Given the description of an element on the screen output the (x, y) to click on. 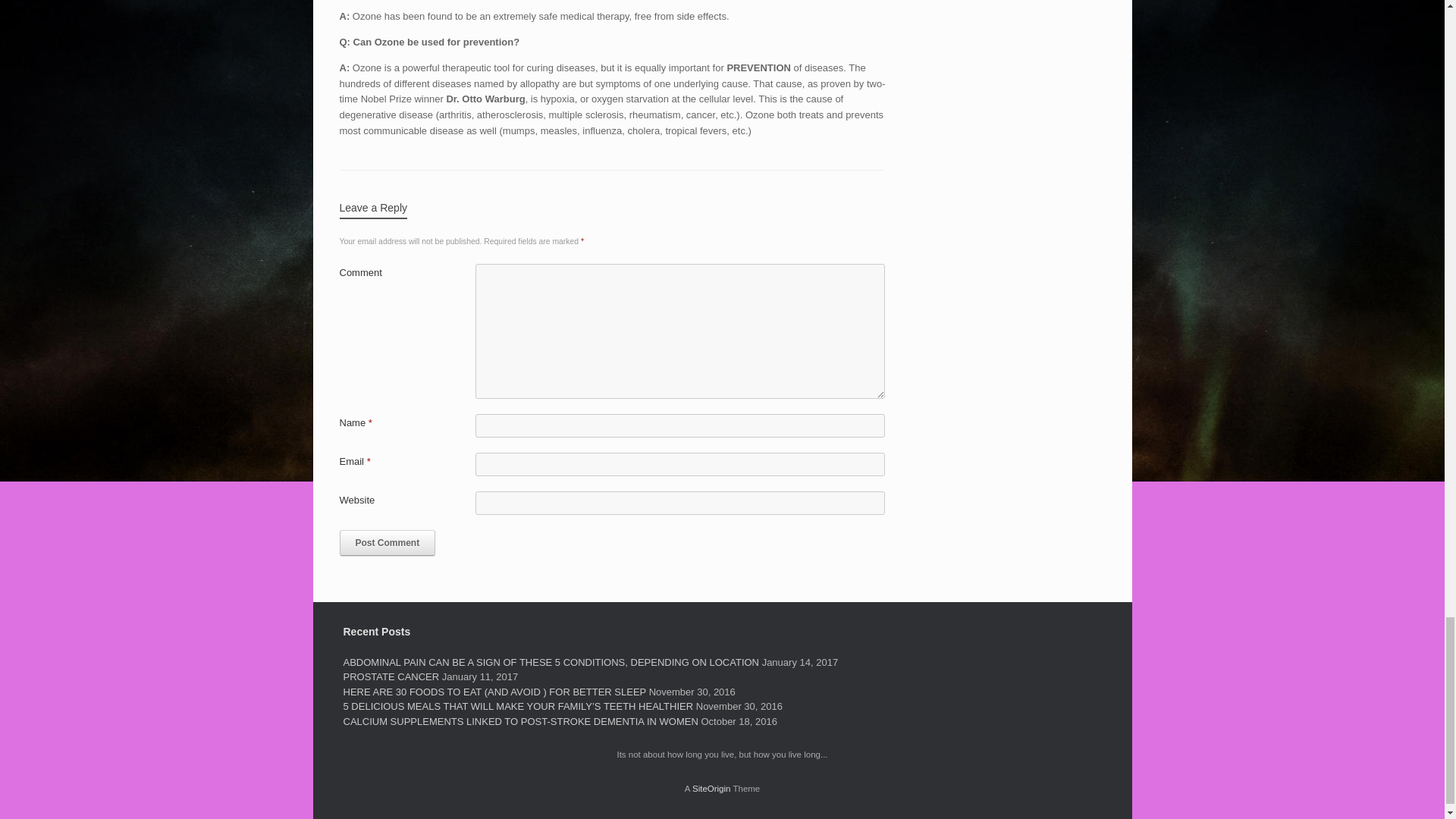
Post Comment (387, 542)
Post Comment (387, 542)
